Given the description of an element on the screen output the (x, y) to click on. 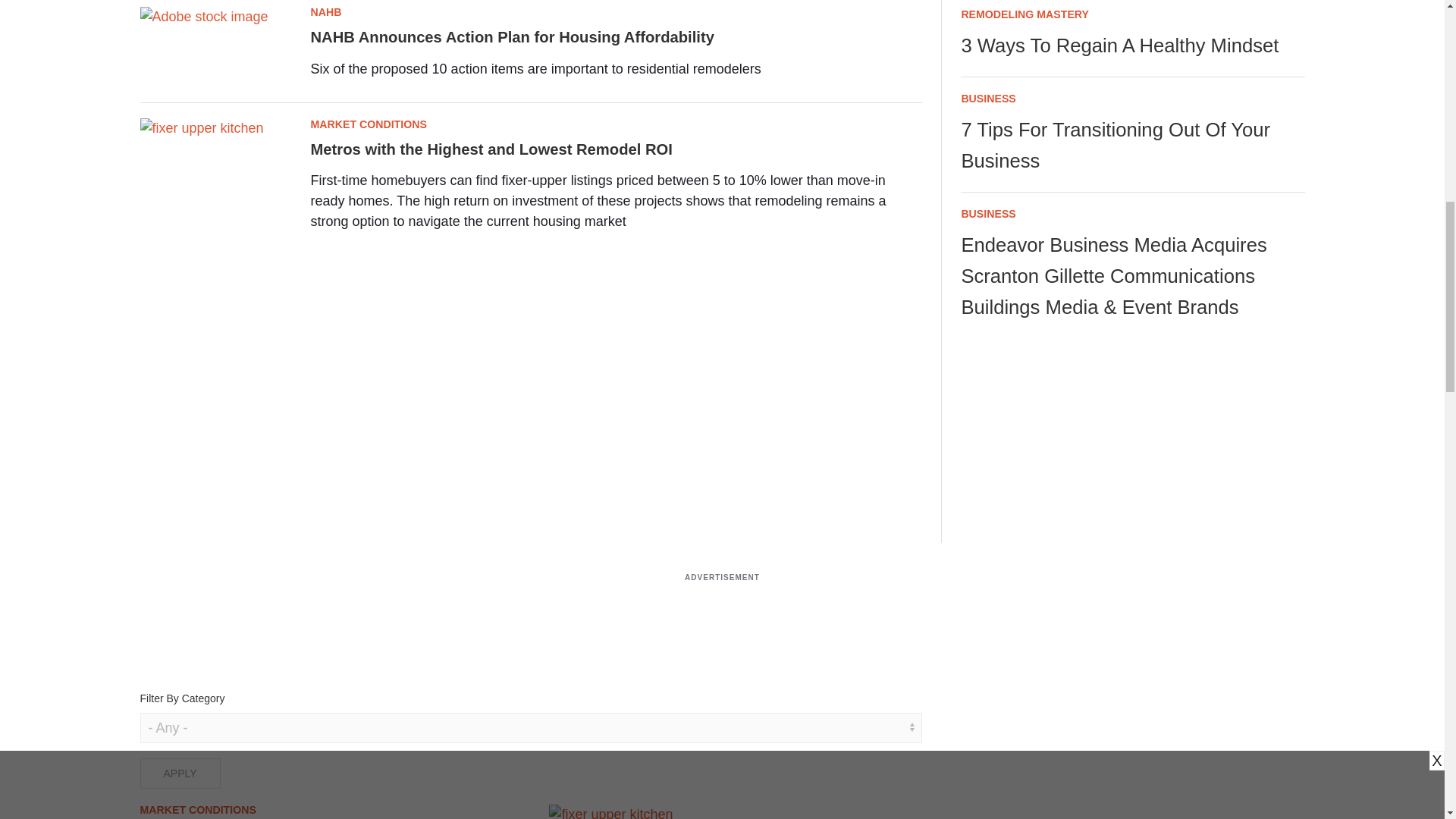
Photo: stock.adobe.com (201, 127)
3rd party ad content (721, 623)
Adobe stock image (203, 16)
Photo: stock.adobe.com (610, 811)
Apply (179, 773)
3rd party ad content (1132, 432)
